Given the description of an element on the screen output the (x, y) to click on. 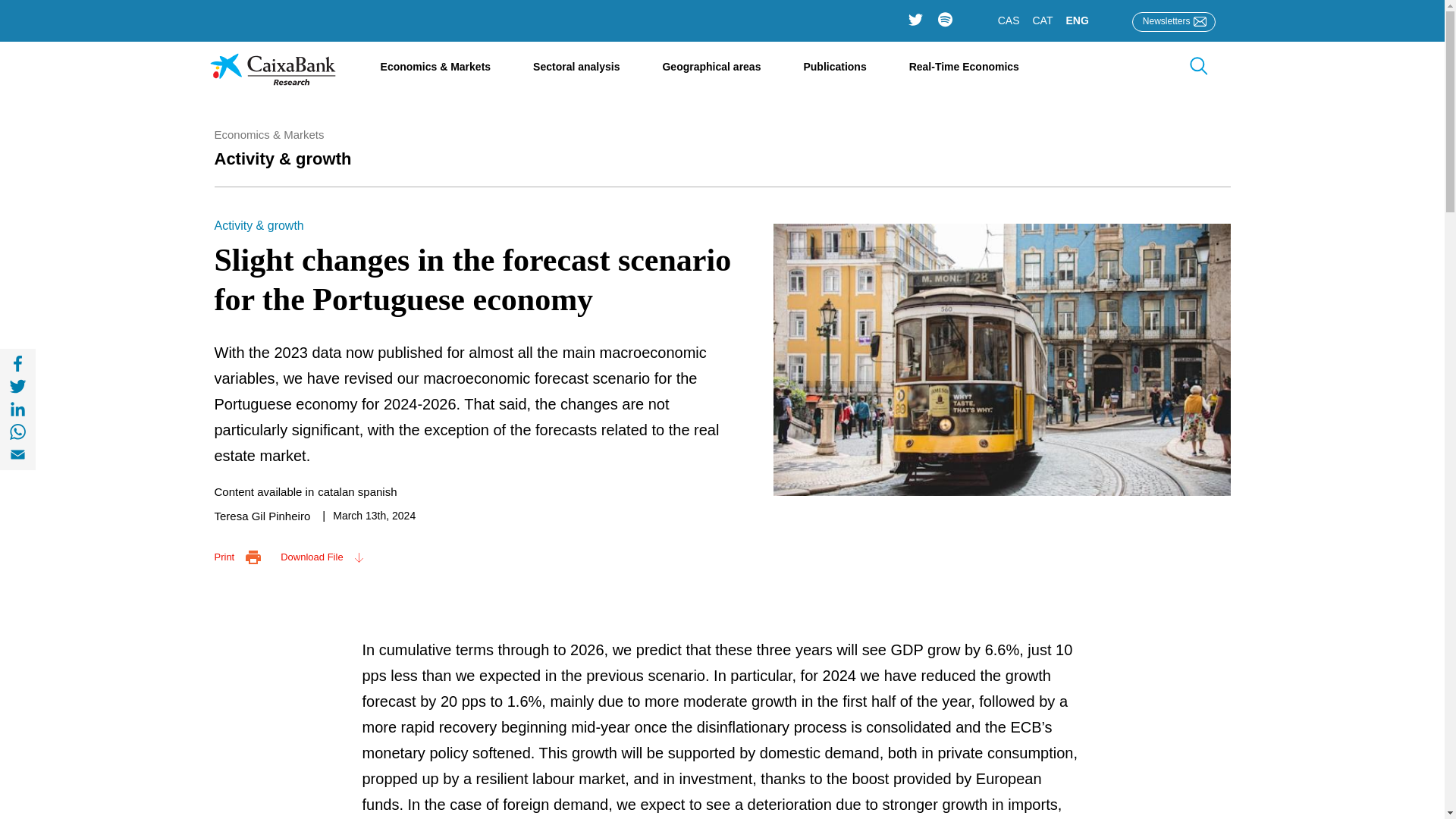
Share with Twitter (17, 386)
Share with Facebook (17, 363)
CaixaBank Research logo (272, 80)
Share with Whatsapp (17, 431)
Header Spotify Link (944, 19)
Share with Linkedin (17, 409)
Share to Email (17, 454)
Header Twitter Link (915, 19)
